Given the description of an element on the screen output the (x, y) to click on. 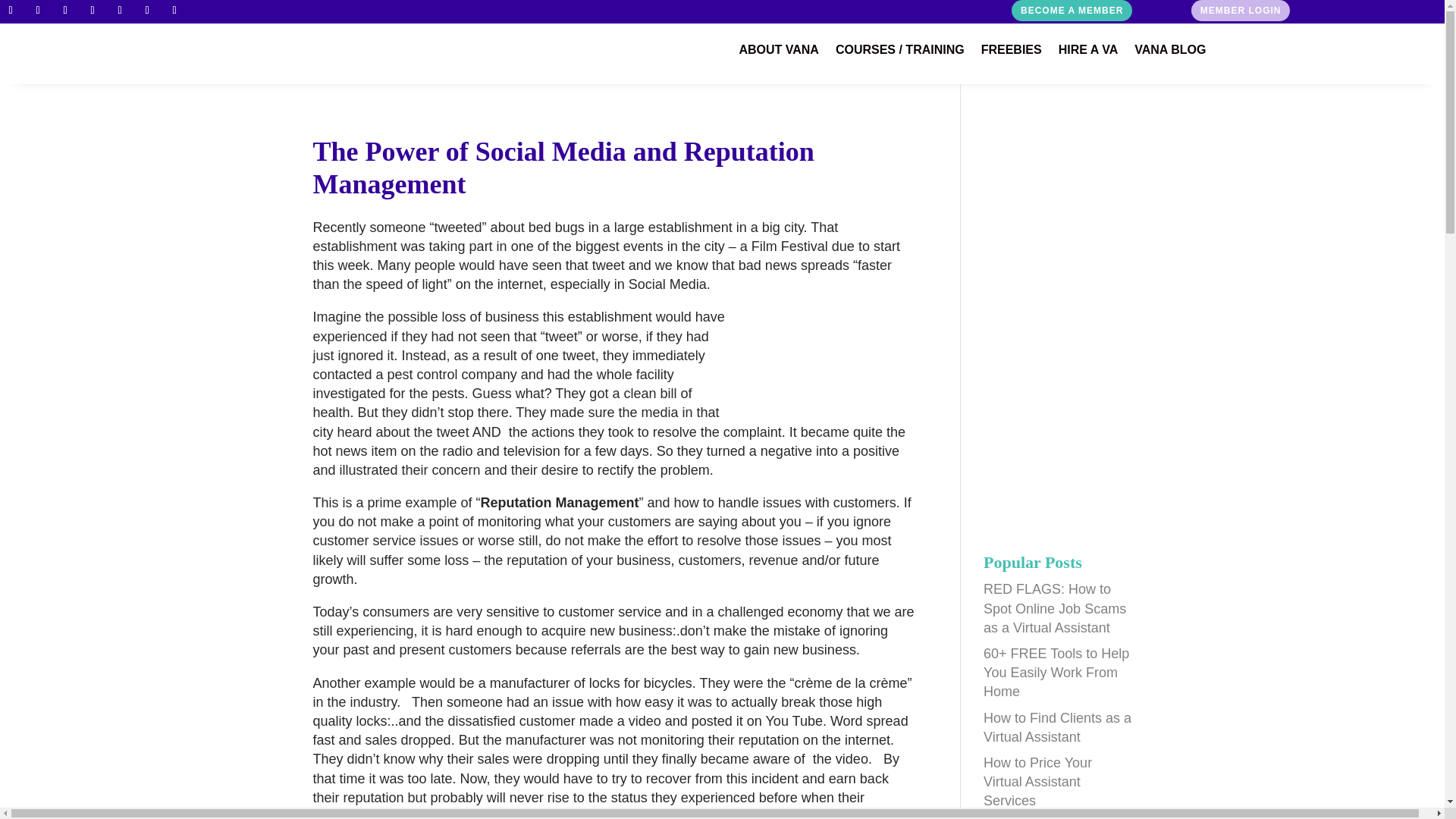
Follow on LinkedIn (65, 10)
BECOME A MEMBER (1071, 10)
HIRE A VA (1088, 53)
Follow on X (120, 10)
Follow on Pinterest (146, 10)
How to Find Clients as a Virtual Assistant (1057, 727)
MEMBER LOGIN (1240, 10)
FREEBIES (1011, 53)
VAnetworkinglogo2 (188, 53)
